Given the description of an element on the screen output the (x, y) to click on. 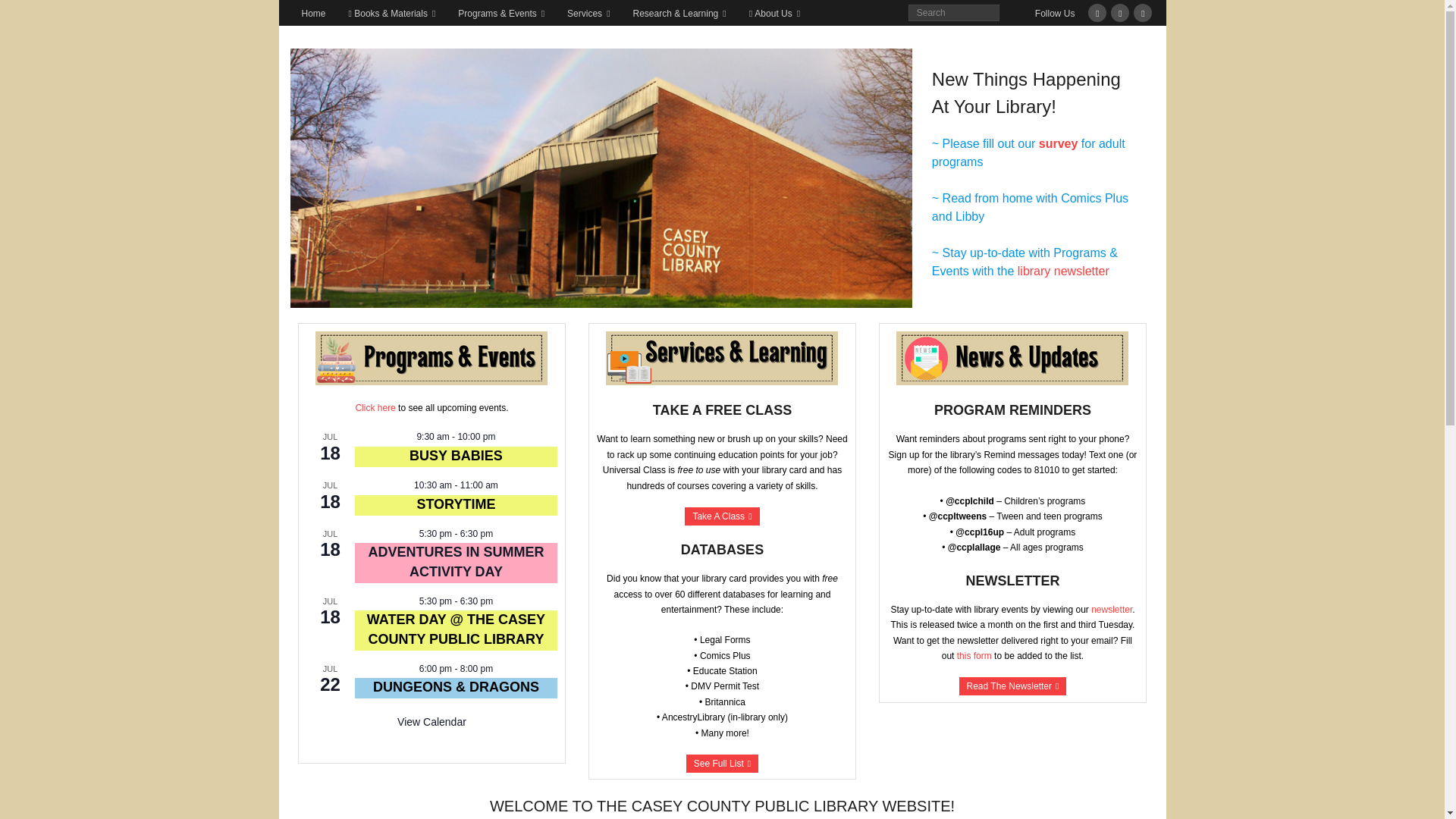
Adventures in Summer Activity Day (455, 561)
Services (588, 12)
StoryTime (455, 504)
Busy Babies (455, 455)
View more events. (431, 721)
Home (312, 12)
